Given the description of an element on the screen output the (x, y) to click on. 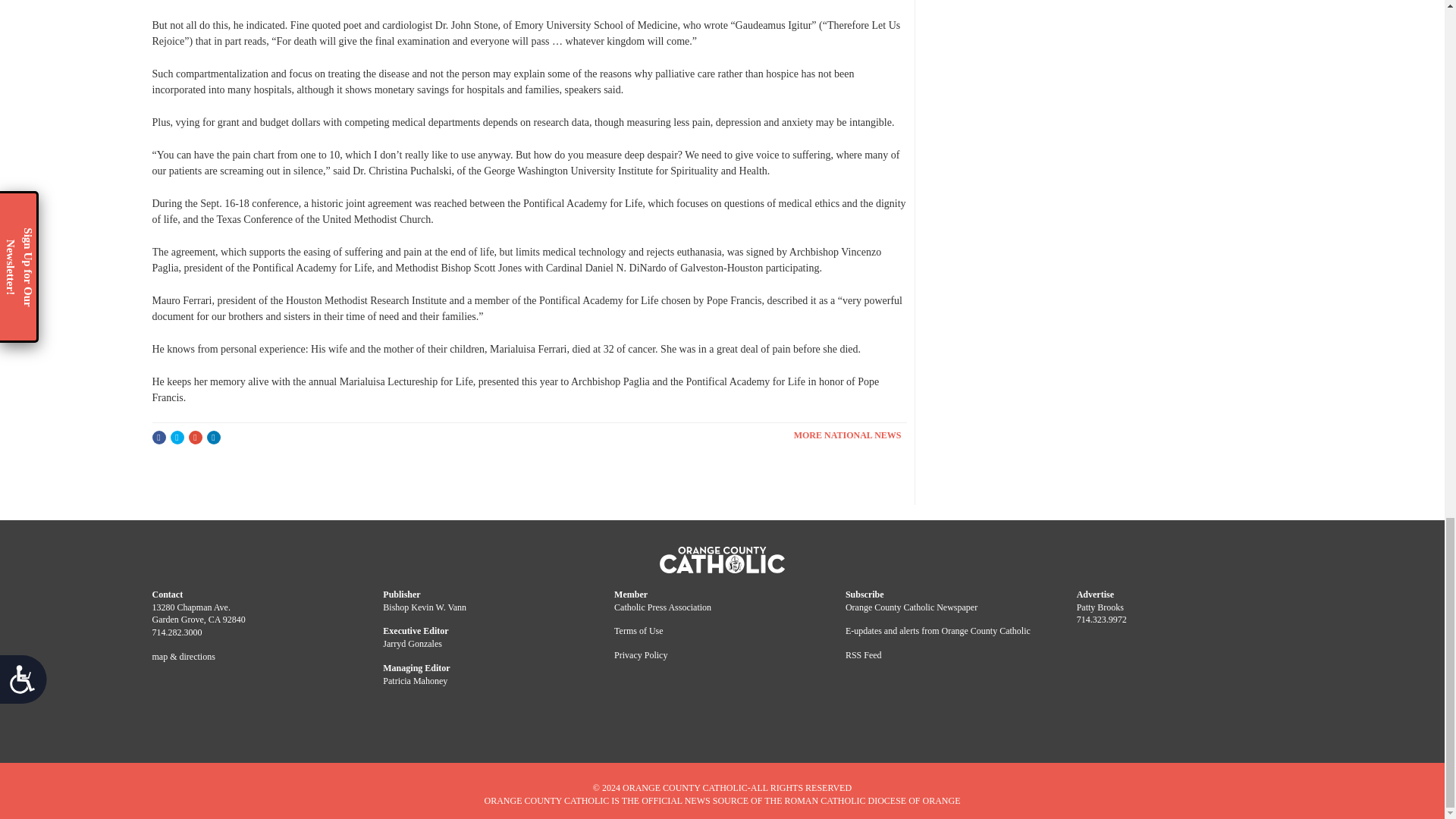
MORE NATIONAL NEWS (850, 434)
National (850, 434)
